Given the description of an element on the screen output the (x, y) to click on. 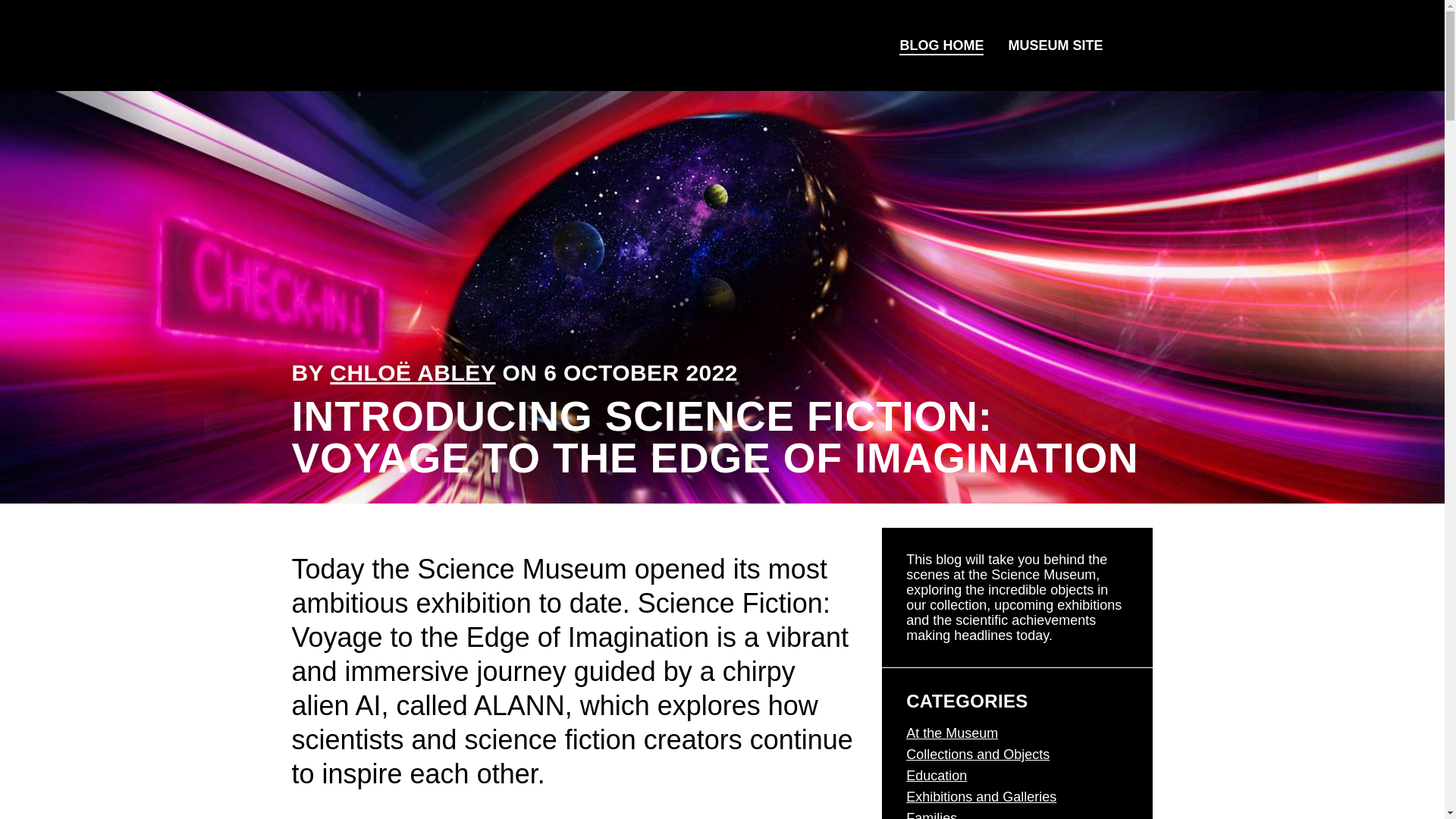
OPEN SEARCH (1133, 45)
View all posts in Families (930, 814)
View all posts in At the Museum (951, 733)
Families (930, 814)
OPEN SEARCH (1134, 45)
At the Museum (951, 733)
MUSEUM SITE (1055, 44)
View all posts in Exhibitions and Galleries (981, 796)
Exhibitions and Galleries (981, 796)
View all posts in Collections and Objects (977, 754)
